Given the description of an element on the screen output the (x, y) to click on. 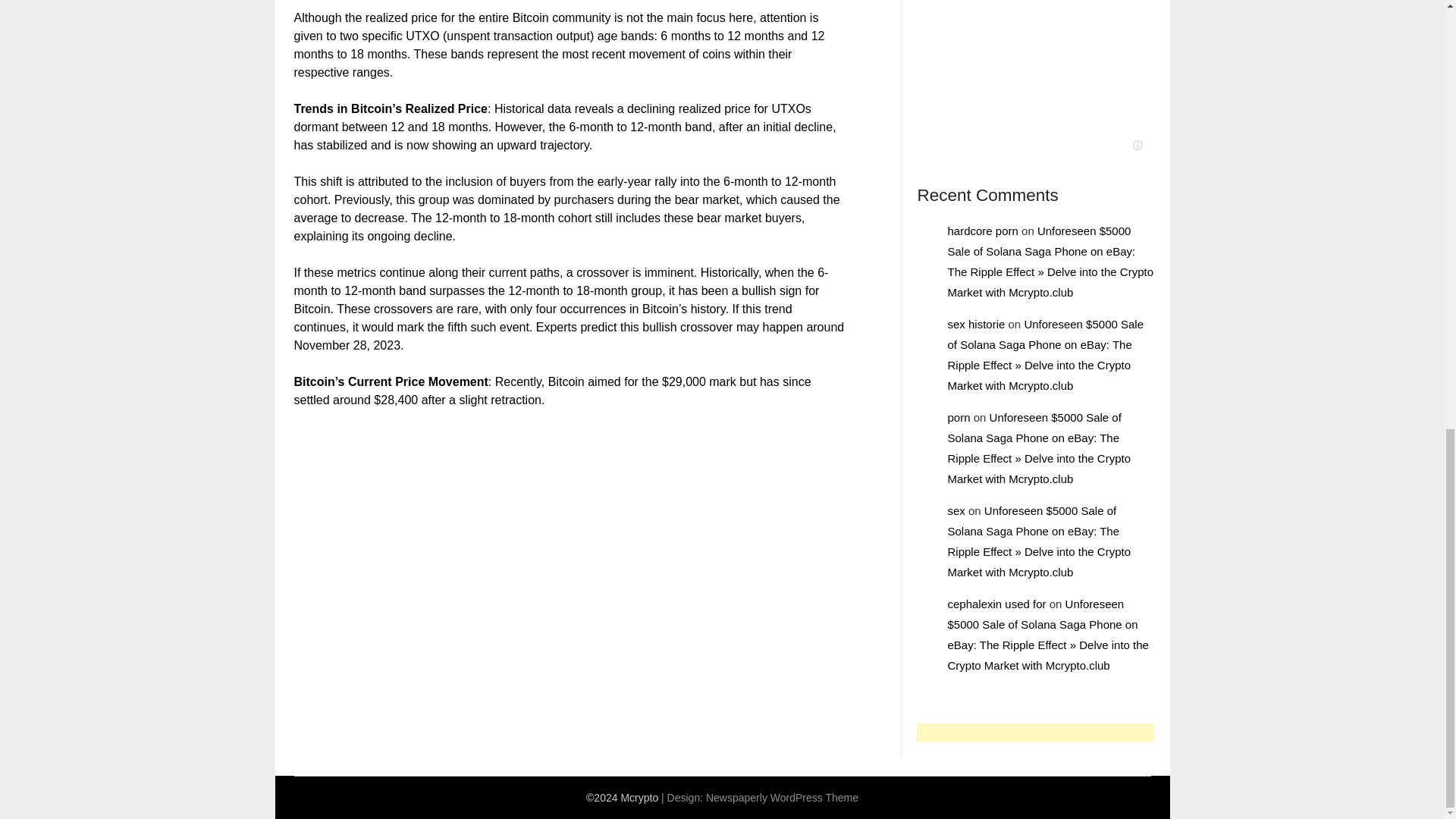
porn (958, 417)
hardcore porn (982, 230)
Newspaperly WordPress Theme (782, 797)
sex historie (975, 323)
cephalexin used for (996, 603)
sex (955, 510)
